Given the description of an element on the screen output the (x, y) to click on. 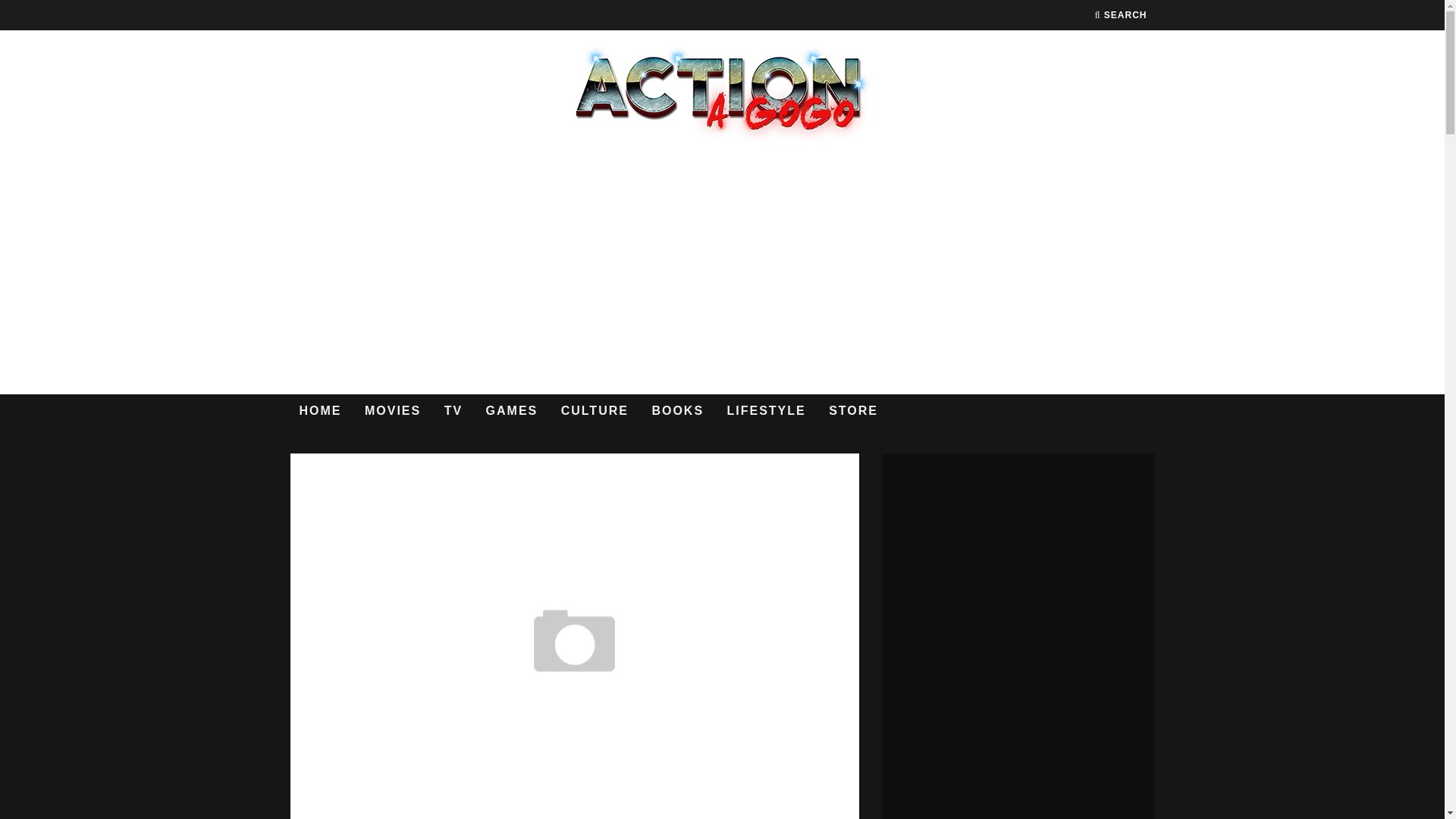
GAMES (512, 410)
CULTURE (594, 410)
Search (1120, 15)
MOVIES (392, 410)
STORE (852, 410)
TV (453, 410)
HOME (319, 410)
Log In (721, 422)
SEARCH (1120, 15)
LIFESTYLE (765, 410)
BOOKS (677, 410)
